Given the description of an element on the screen output the (x, y) to click on. 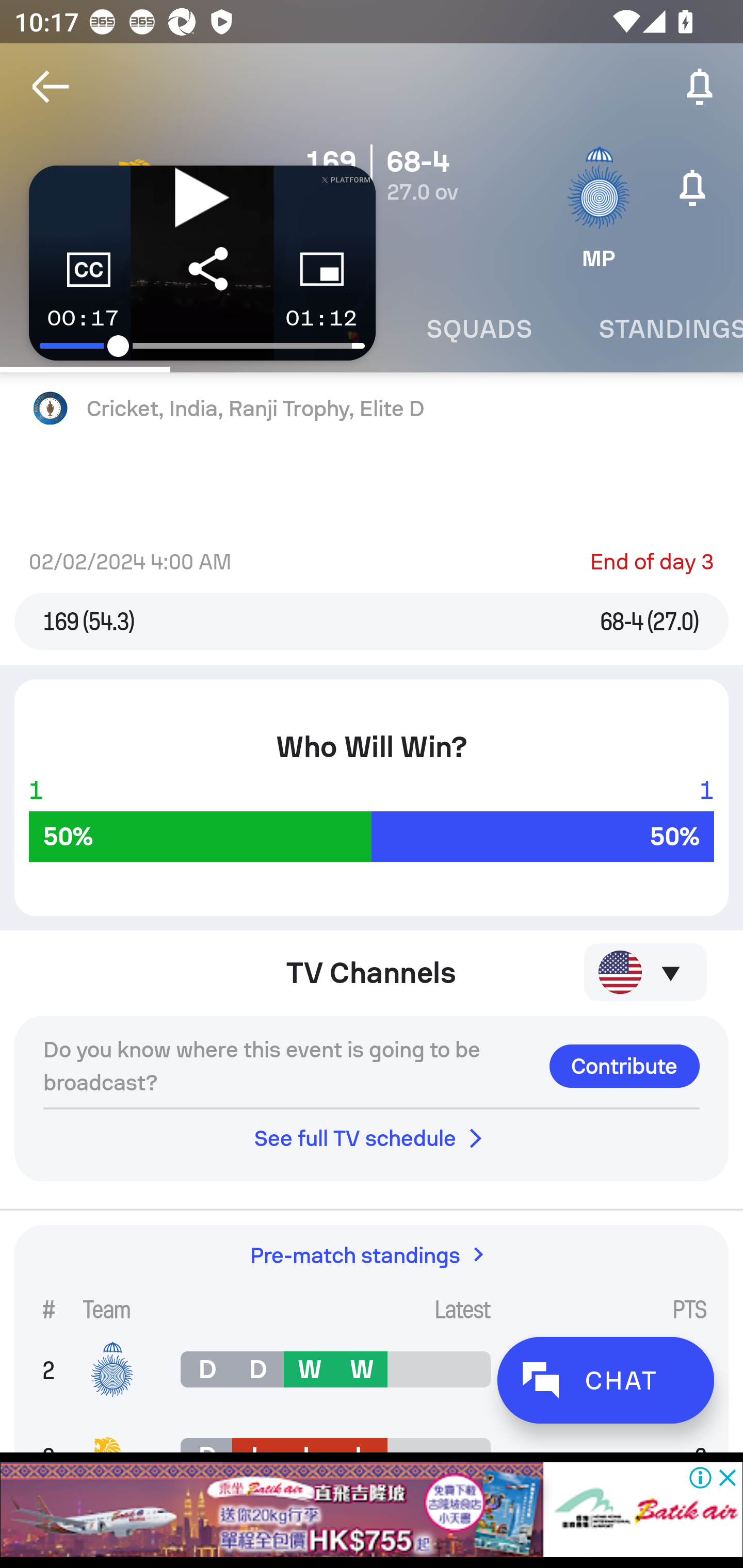
Navigate up (50, 86)
Squads SQUADS (479, 329)
Standings STANDINGS (654, 329)
Cricket, India, Ranji Trophy, Elite D (371, 409)
Contribute (624, 1066)
See full TV schedule (371, 1138)
CHAT (605, 1380)
batik-air-x-hkia-promotion (371, 1509)
